Given the description of an element on the screen output the (x, y) to click on. 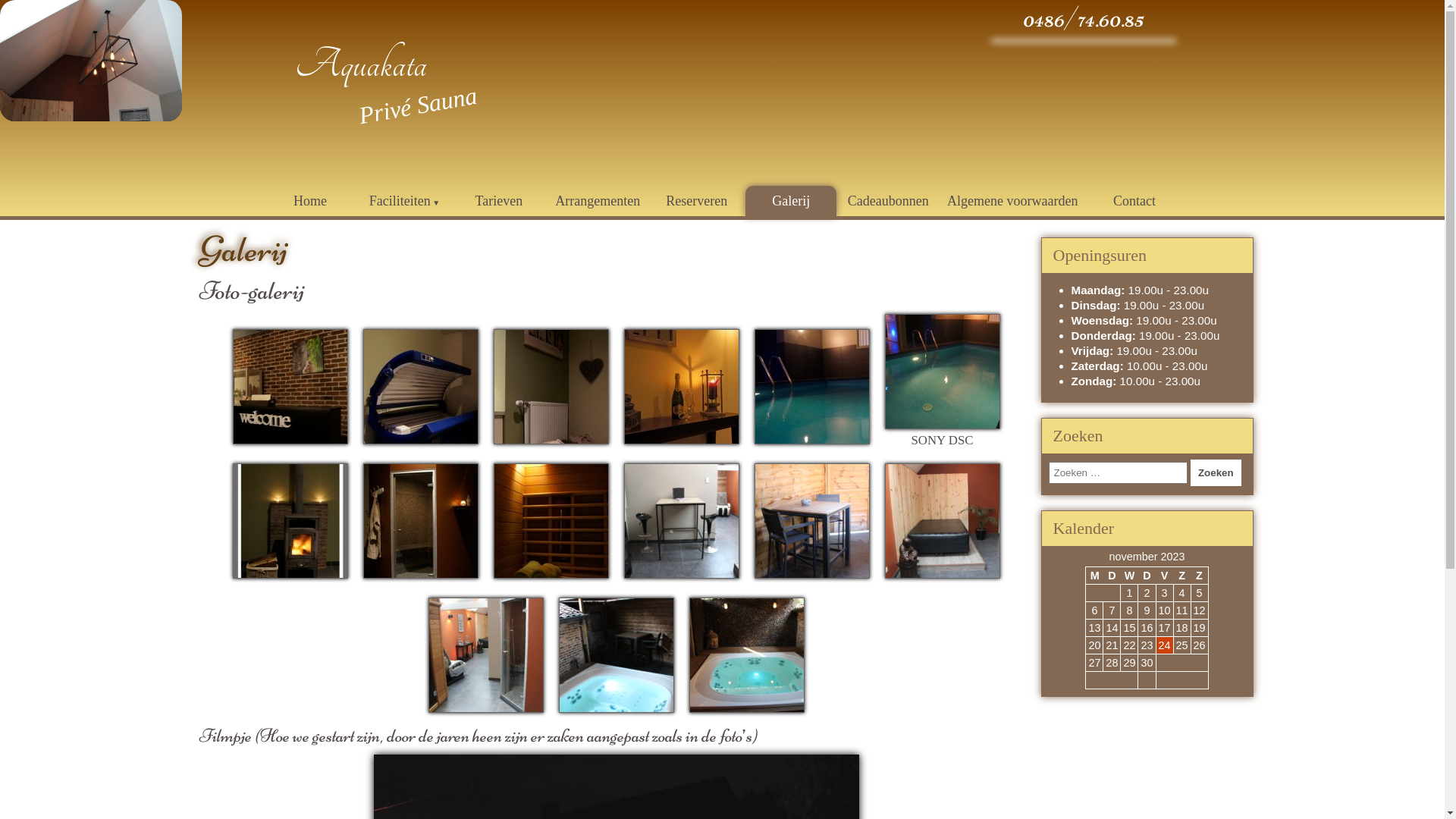
Galerij Element type: text (790, 200)
Zoeken Element type: text (1215, 472)
Aquakata Element type: text (360, 64)
Cadeaubonnen Element type: text (888, 200)
Algemene voorwaarden Element type: text (1012, 200)
Home Element type: text (309, 200)
Faciliteiten Element type: text (403, 200)
Arrangementen Element type: text (597, 200)
Tarieven Element type: text (498, 200)
Contact Element type: text (1133, 200)
Reserveren Element type: text (696, 200)
